Given the description of an element on the screen output the (x, y) to click on. 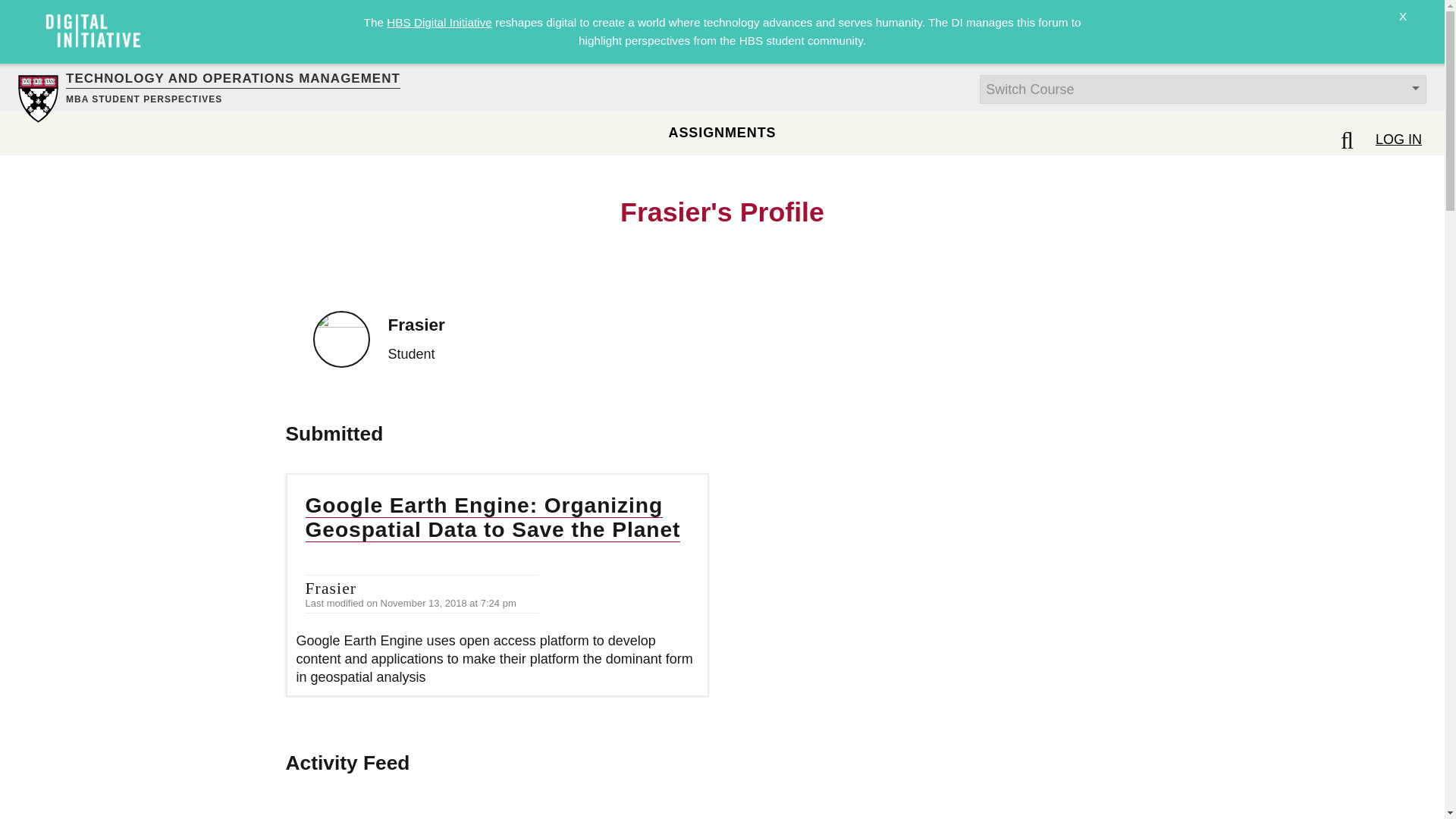
Close and dismiss. (1403, 26)
ASSIGNMENTS (722, 132)
Go (18, 9)
HBS Digital Initiative (439, 21)
LOG IN (1398, 139)
